Given the description of an element on the screen output the (x, y) to click on. 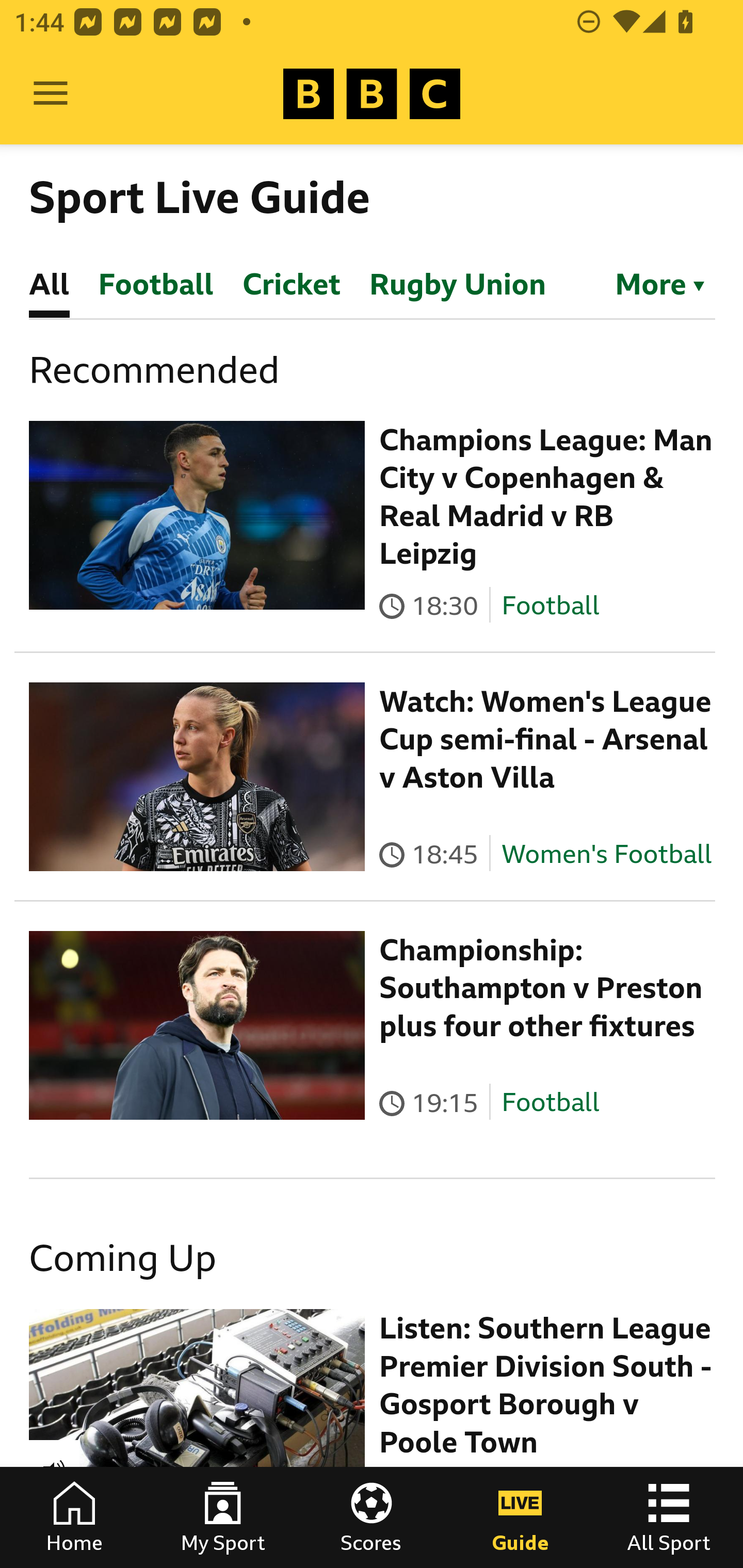
Open Menu (50, 93)
Football (550, 604)
Women's Football (606, 853)
Football (550, 1102)
Home (74, 1517)
My Sport (222, 1517)
Scores (371, 1517)
All Sport (668, 1517)
